Given the description of an element on the screen output the (x, y) to click on. 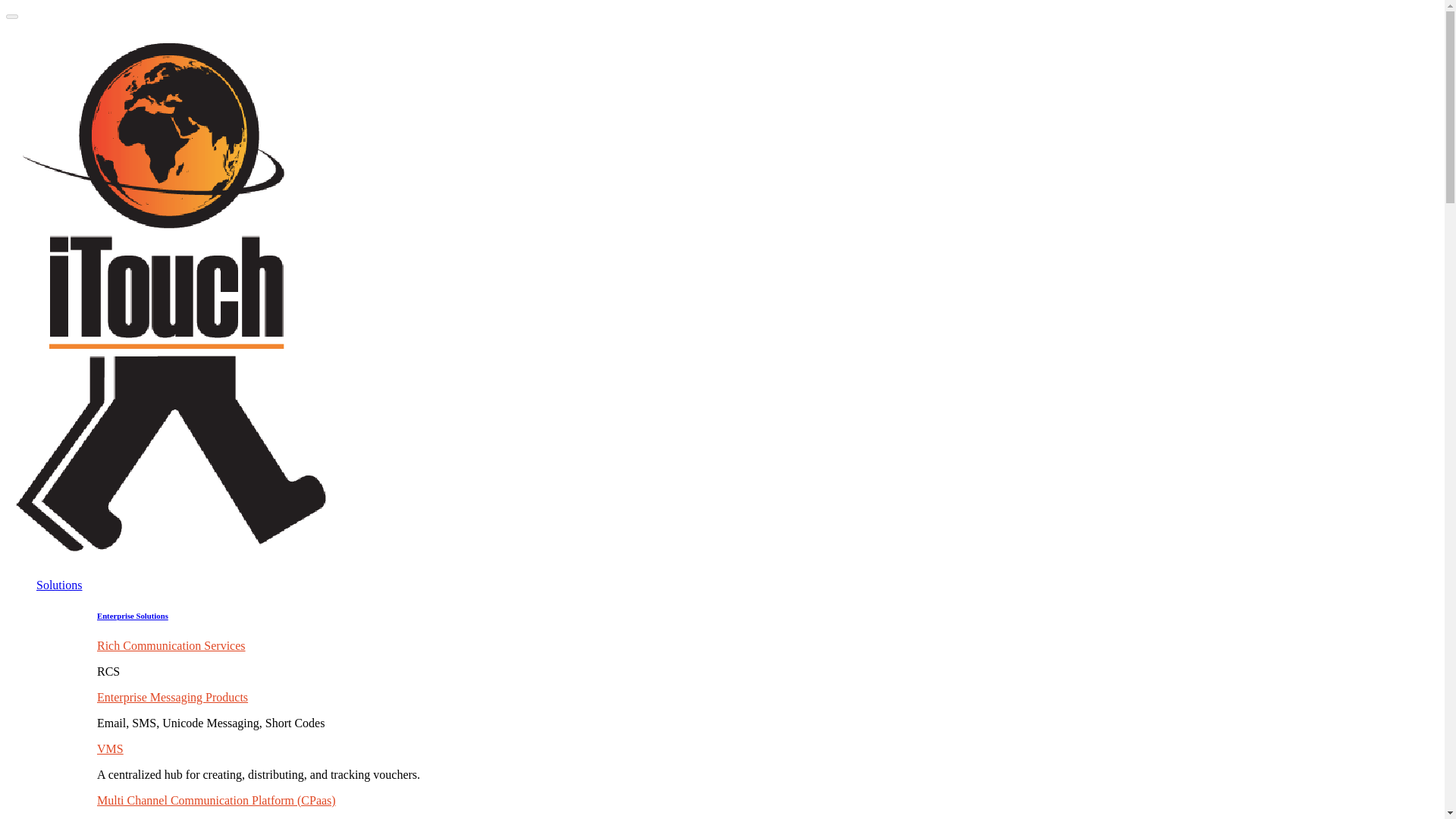
Solutions (58, 584)
Rich Communication Services (171, 645)
Enterprise Messaging Products (172, 697)
VMS (110, 748)
